Given the description of an element on the screen output the (x, y) to click on. 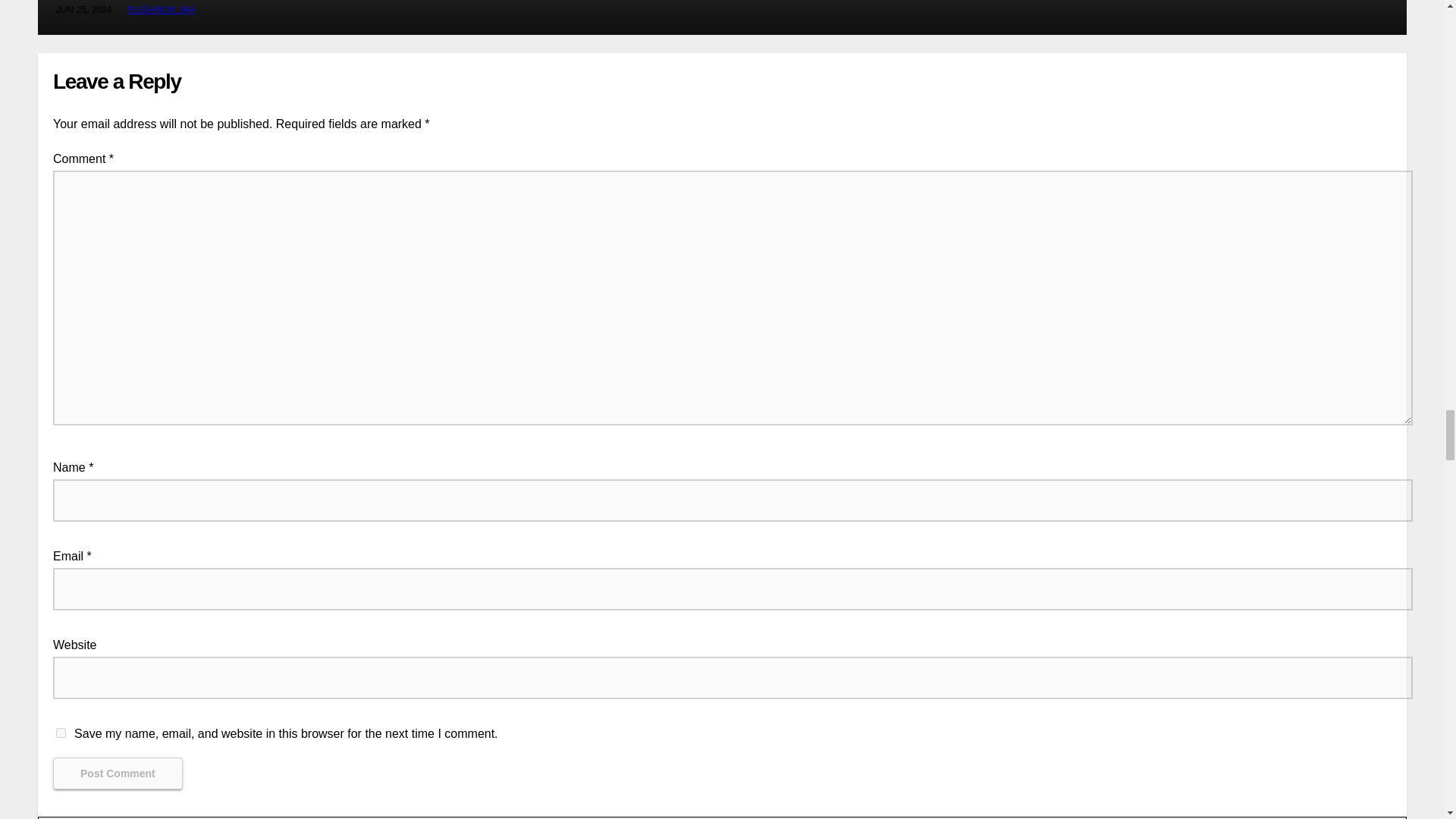
yes (60, 732)
Post Comment (117, 773)
